Given the description of an element on the screen output the (x, y) to click on. 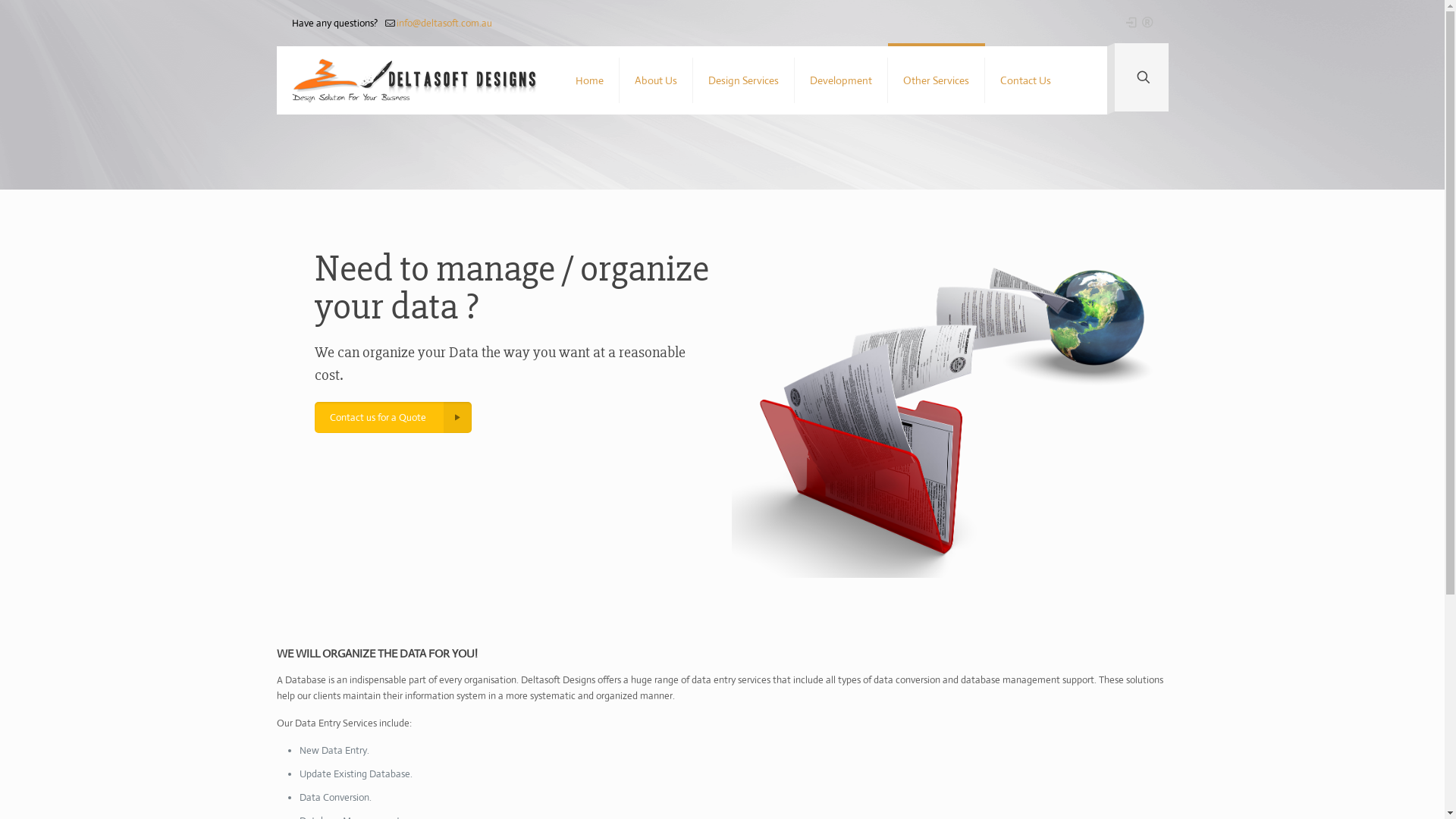
Design Services Element type: text (743, 80)
Deltasoft Designs Element type: hover (414, 80)
About Us Element type: text (656, 80)
Other Services Element type: text (936, 80)
Contact us for a Quote Element type: text (391, 417)
Development Element type: text (841, 80)
Login Element type: hover (1130, 22)
Home Element type: text (589, 80)
info@deltasoft.com.au Element type: text (443, 22)
Contact Us Element type: text (1025, 80)
